Given the description of an element on the screen output the (x, y) to click on. 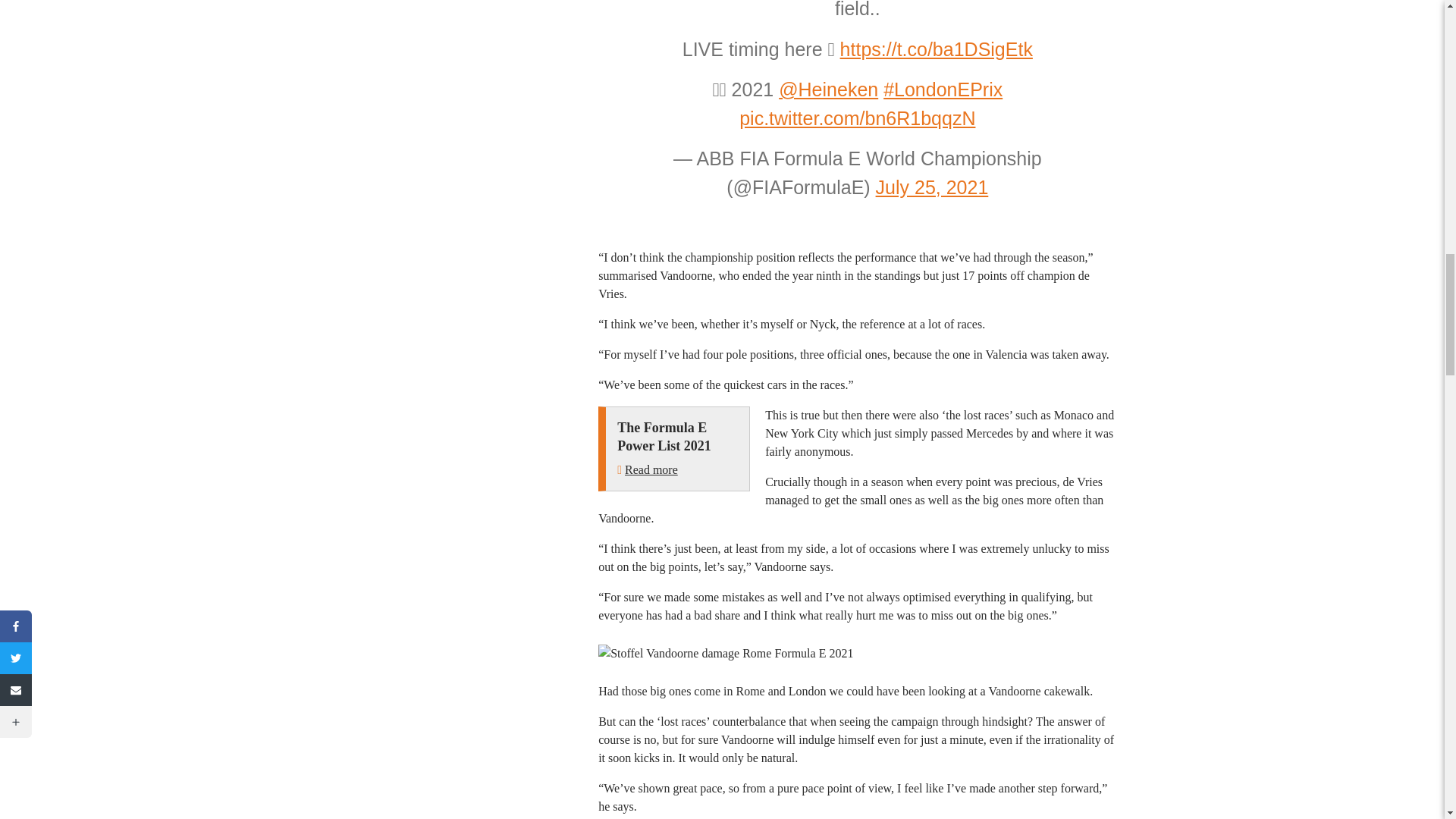
Read more (651, 469)
July 25, 2021 (932, 186)
